Given the description of an element on the screen output the (x, y) to click on. 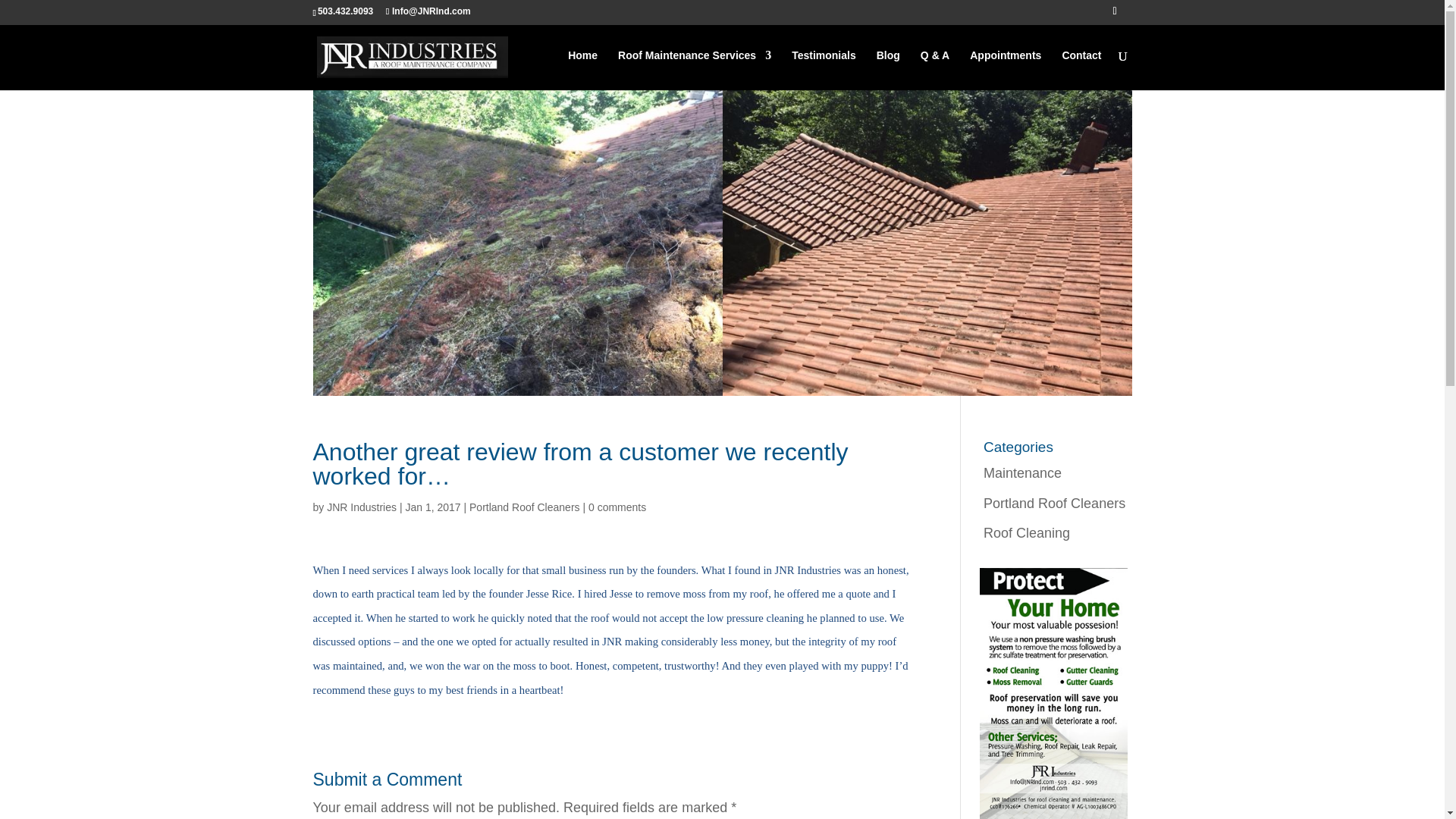
Testimonials (824, 67)
JNR Industries (361, 507)
Roof Cleaning (1027, 532)
Maintenance (1022, 473)
Contact (1080, 67)
Roof Maintenance Services (694, 67)
Appointments (1005, 67)
Posts by JNR Industries (361, 507)
0 comments (617, 507)
Portland Roof Cleaners (523, 507)
Portland Roof Cleaners (1054, 503)
